Given the description of an element on the screen output the (x, y) to click on. 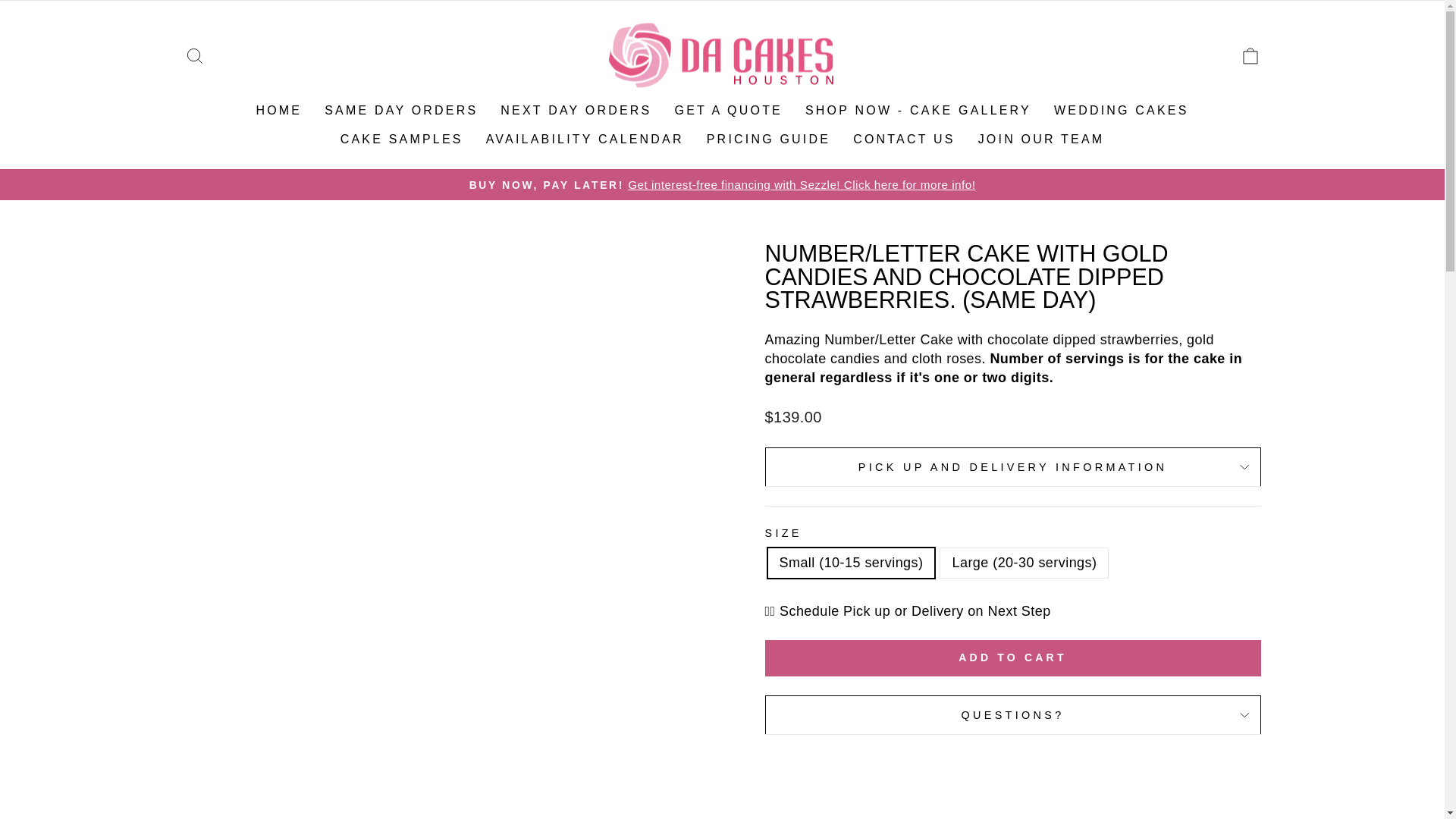
SEARCH (194, 56)
GET A QUOTE (727, 111)
PRICING GUIDE (768, 139)
CART (1249, 56)
WEDDING CAKES (1120, 111)
CAKE SAMPLES (401, 139)
PICK UP AND DELIVERY INFORMATION (1012, 466)
NEXT DAY ORDERS (575, 111)
HOME (278, 111)
CONTACT US (903, 139)
